Given the description of an element on the screen output the (x, y) to click on. 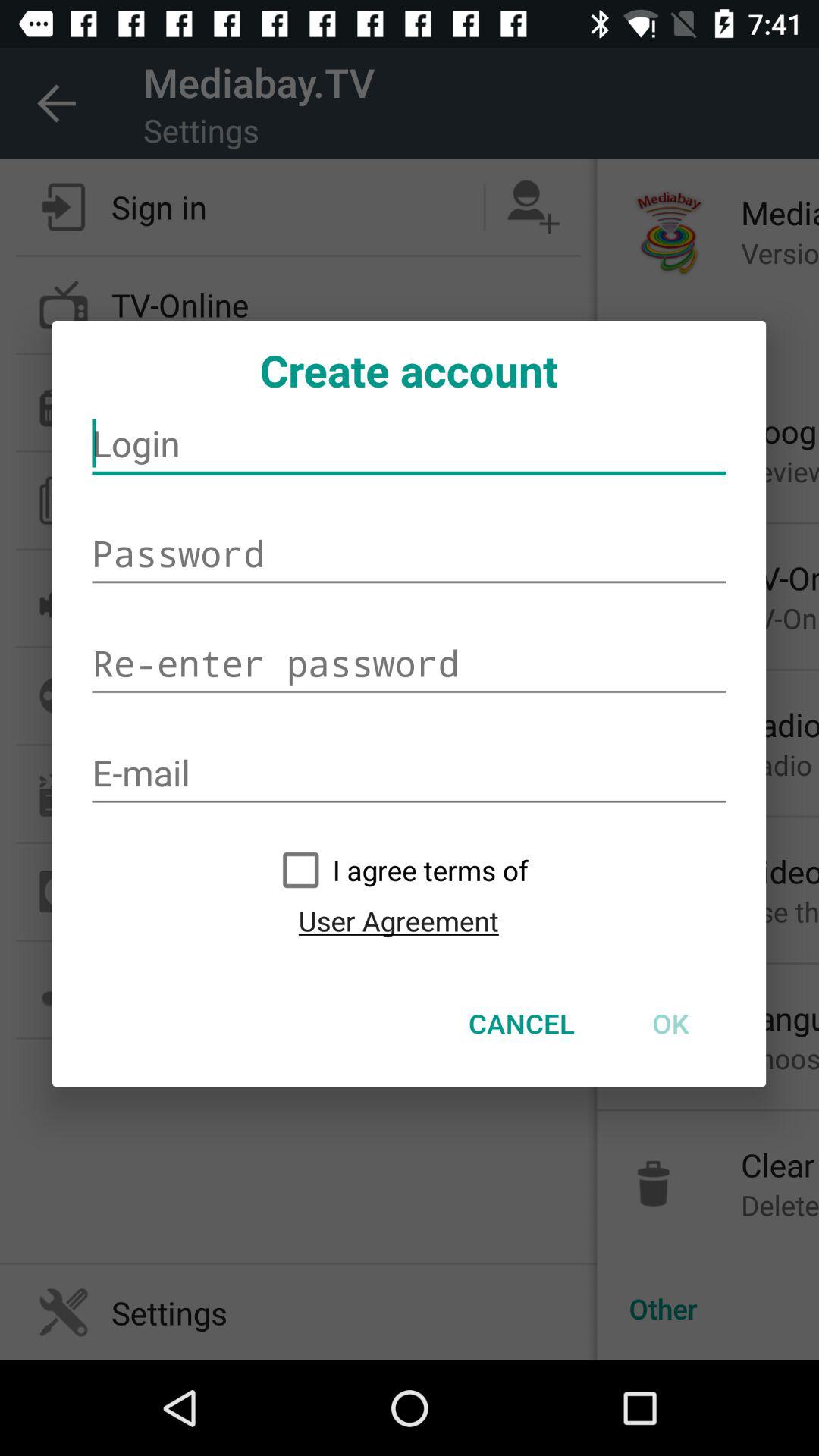
click the item at the bottom (521, 1022)
